Given the description of an element on the screen output the (x, y) to click on. 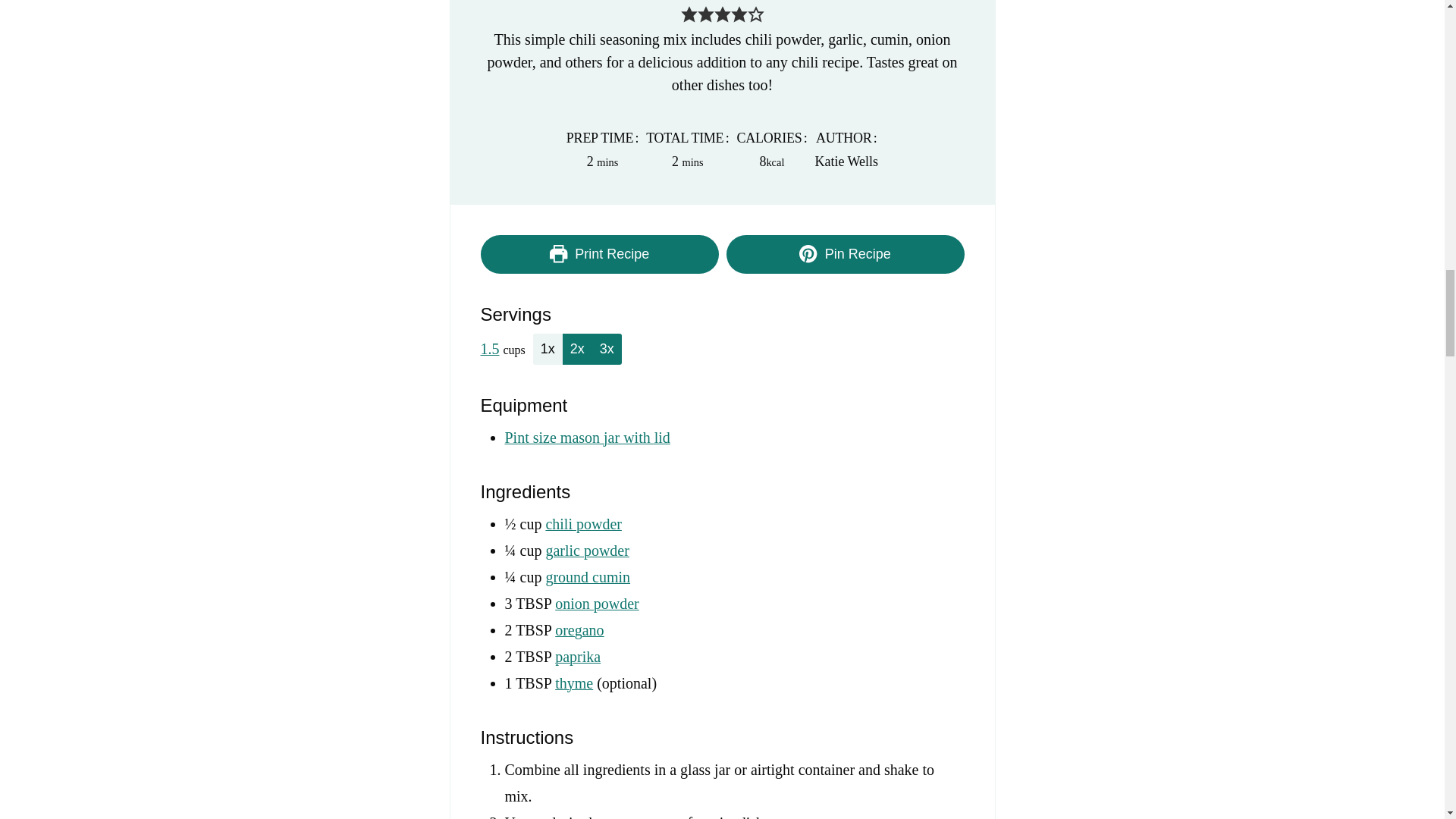
1x (547, 349)
Pin Recipe (844, 254)
Print Recipe (599, 254)
2x (577, 349)
1.5 (489, 348)
